Given the description of an element on the screen output the (x, y) to click on. 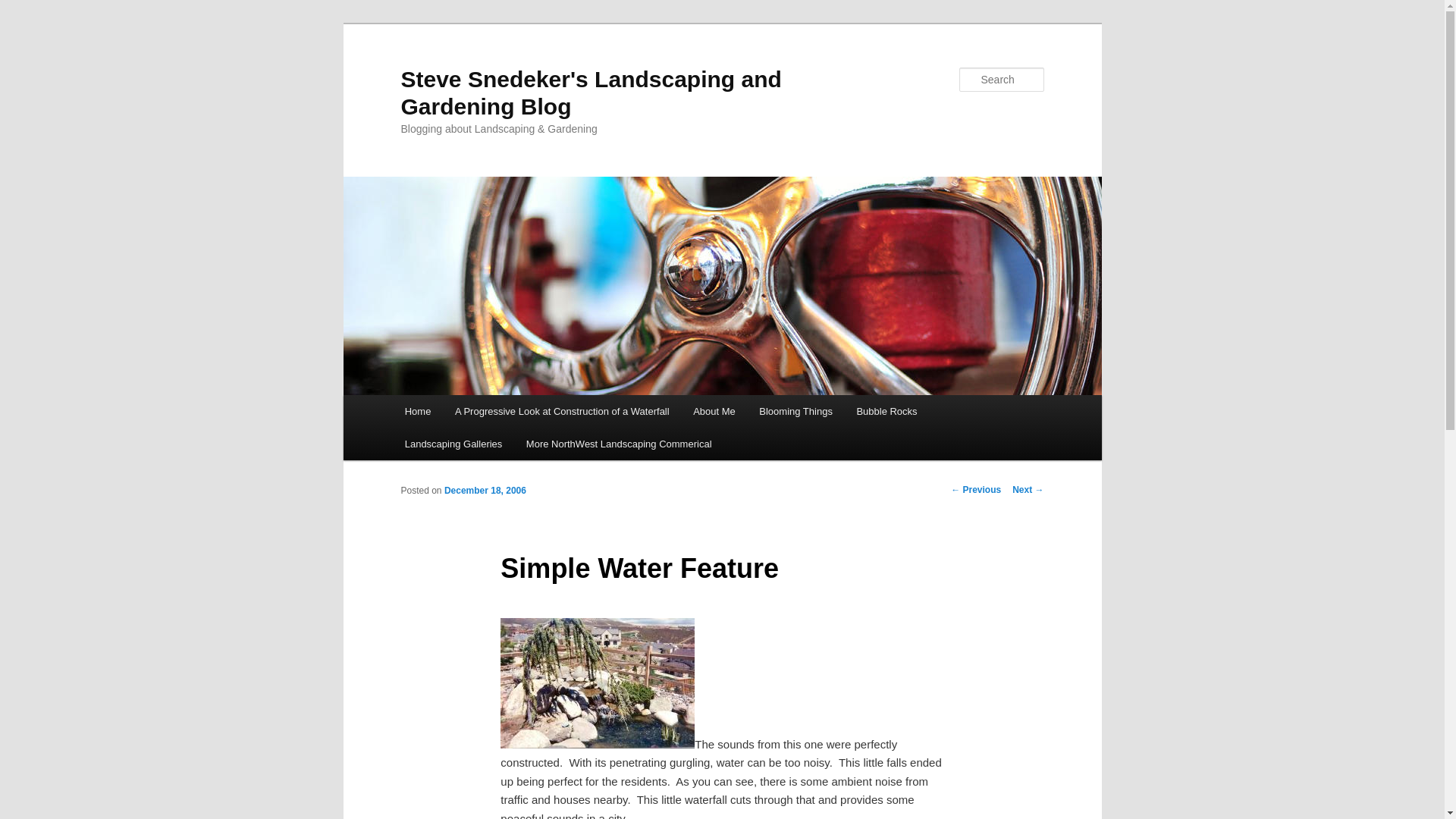
Bubble Rocks (887, 410)
1:12 pm (484, 490)
A Progressive Look at Construction of a Waterfall (561, 410)
Search (24, 8)
About Me (713, 410)
Home (417, 410)
Blooming Things (796, 410)
December 18, 2006 (484, 490)
Landscaping Galleries (453, 443)
